Given the description of an element on the screen output the (x, y) to click on. 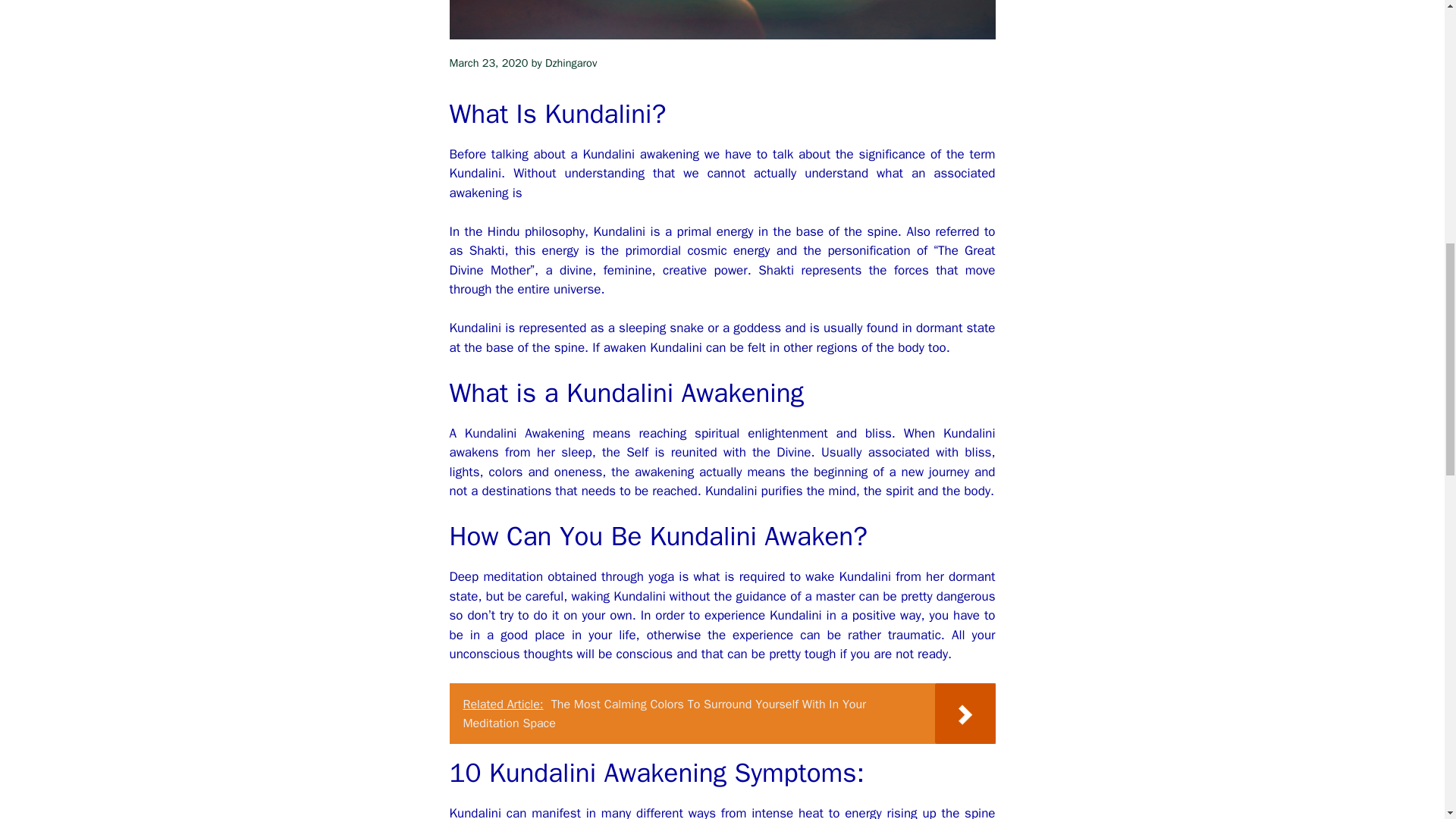
Dzhingarov (570, 62)
View all posts by Dzhingarov (570, 62)
Scroll back to top (1406, 720)
